Given the description of an element on the screen output the (x, y) to click on. 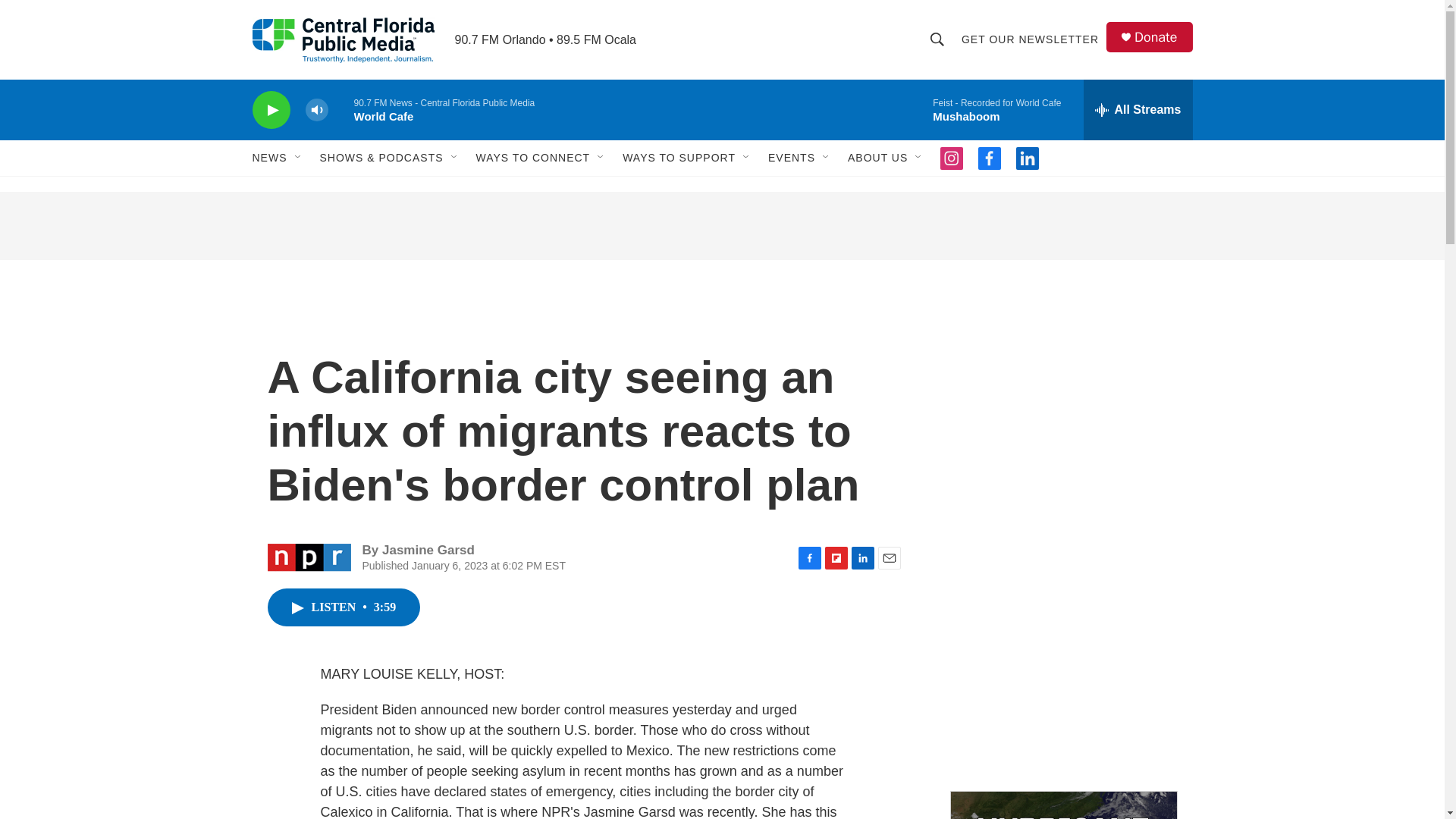
3rd party ad content (721, 225)
